Given the description of an element on the screen output the (x, y) to click on. 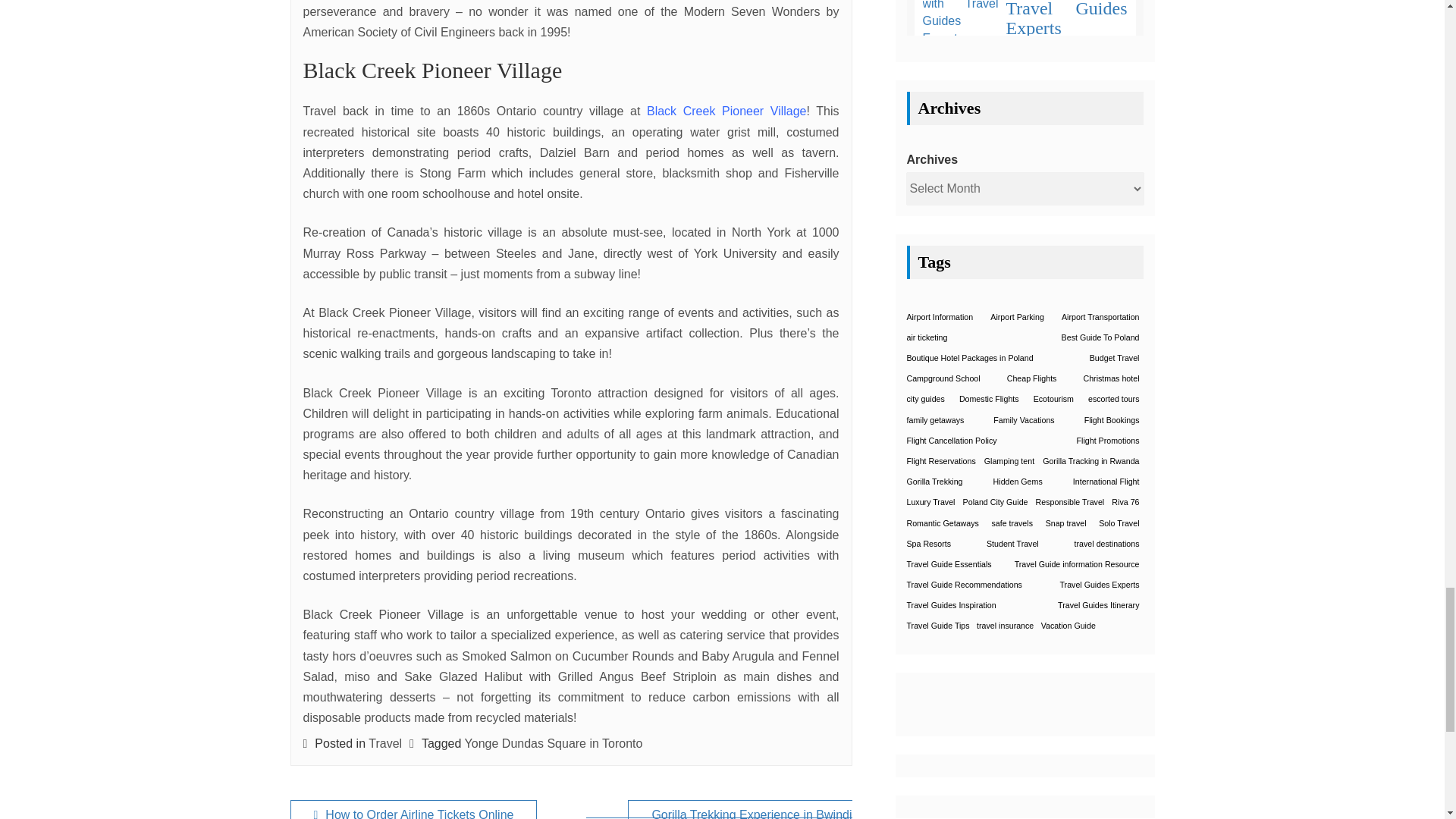
Black Creek Pioneer Village (726, 110)
Yonge Dundas Square in Toronto (553, 743)
Travel (384, 743)
How to Order Airline Tickets Online (413, 809)
